Given the description of an element on the screen output the (x, y) to click on. 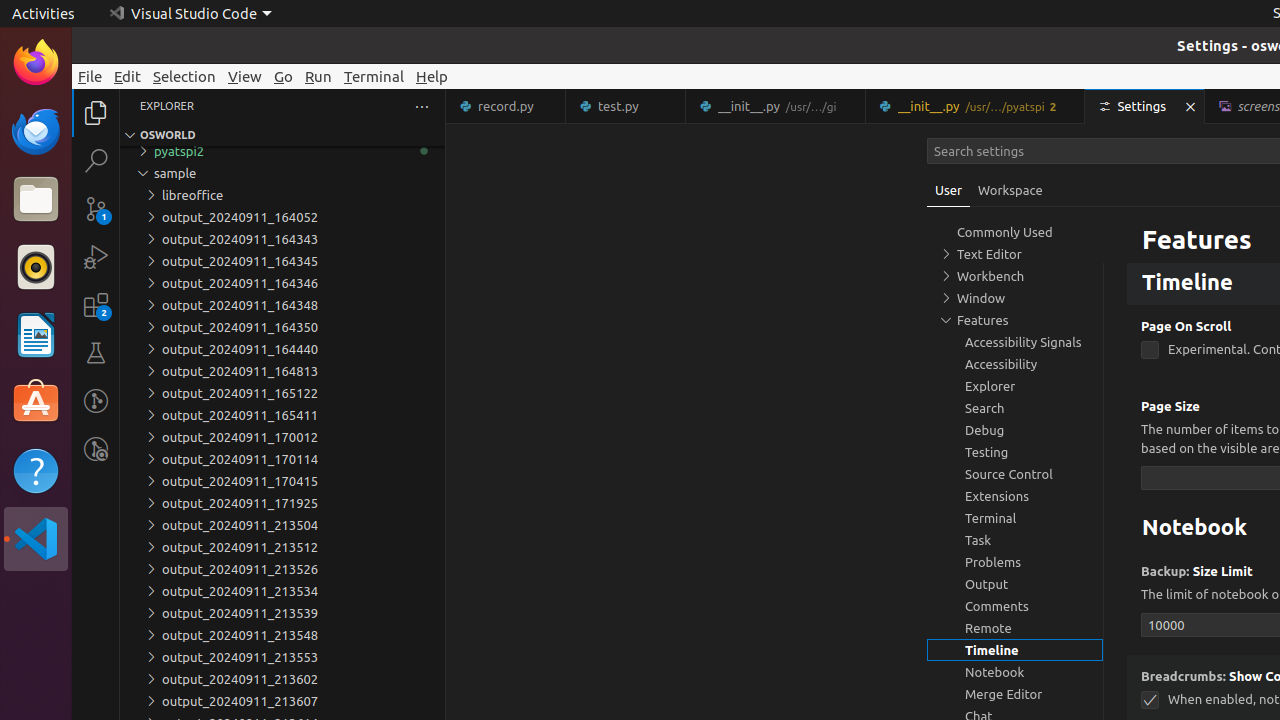
Run and Debug (Ctrl+Shift+D) Element type: page-tab (96, 257)
output_20240911_213607 Element type: tree-item (282, 701)
output_20240911_164813 Element type: tree-item (282, 371)
Text Editor, group Element type: tree-item (1015, 254)
Search, group Element type: tree-item (1015, 408)
